Given the description of an element on the screen output the (x, y) to click on. 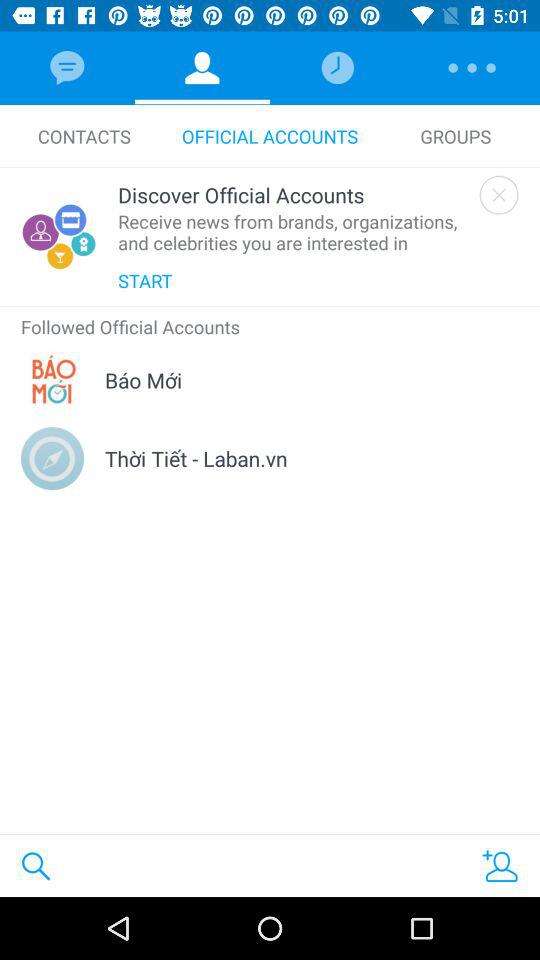
press item above the start item (294, 232)
